Given the description of an element on the screen output the (x, y) to click on. 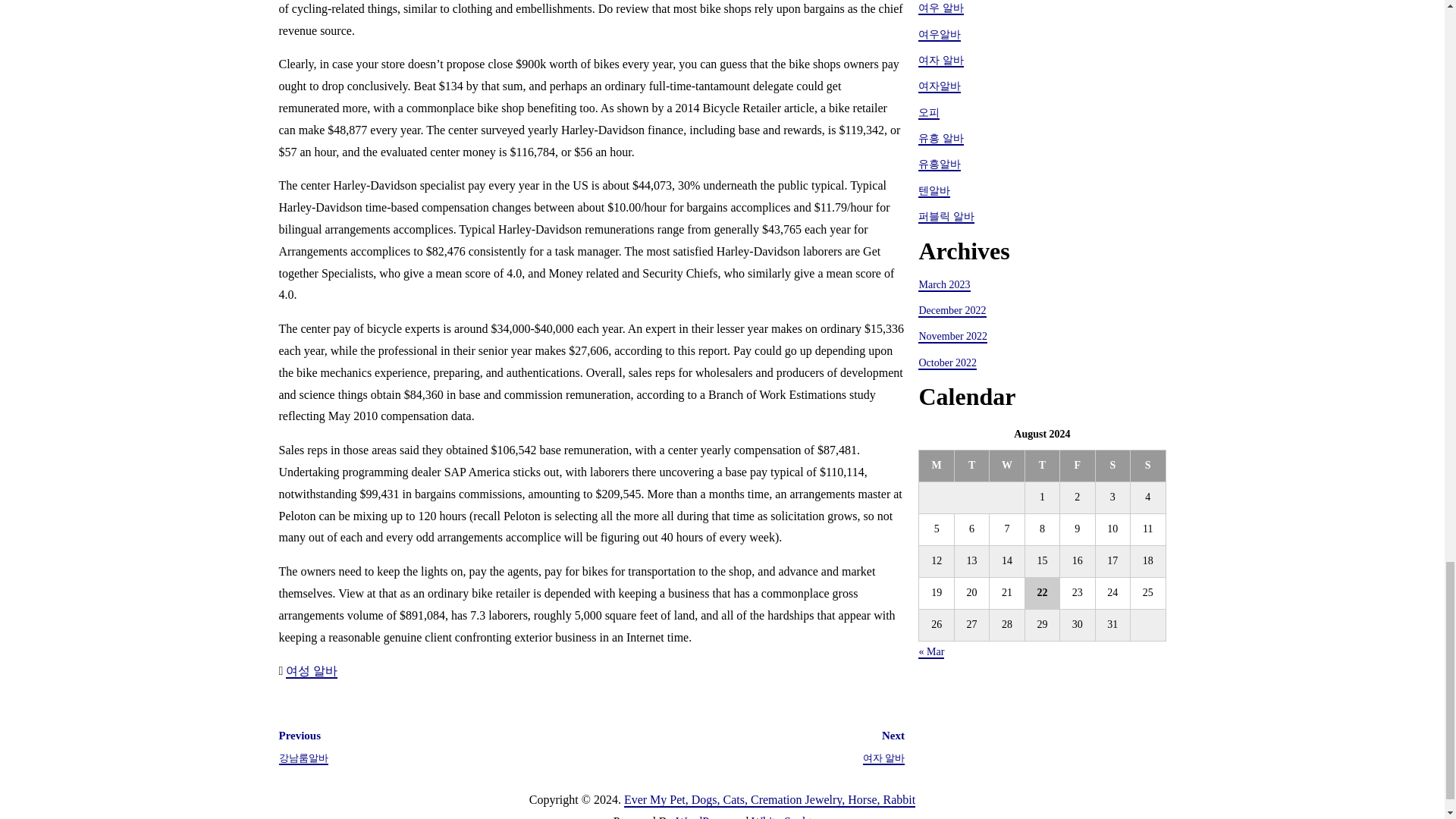
Tuesday (970, 465)
Friday (1076, 465)
Monday (935, 465)
Wednesday (1007, 465)
Thursday (1042, 465)
Saturday (1111, 465)
Sunday (1147, 465)
